Given the description of an element on the screen output the (x, y) to click on. 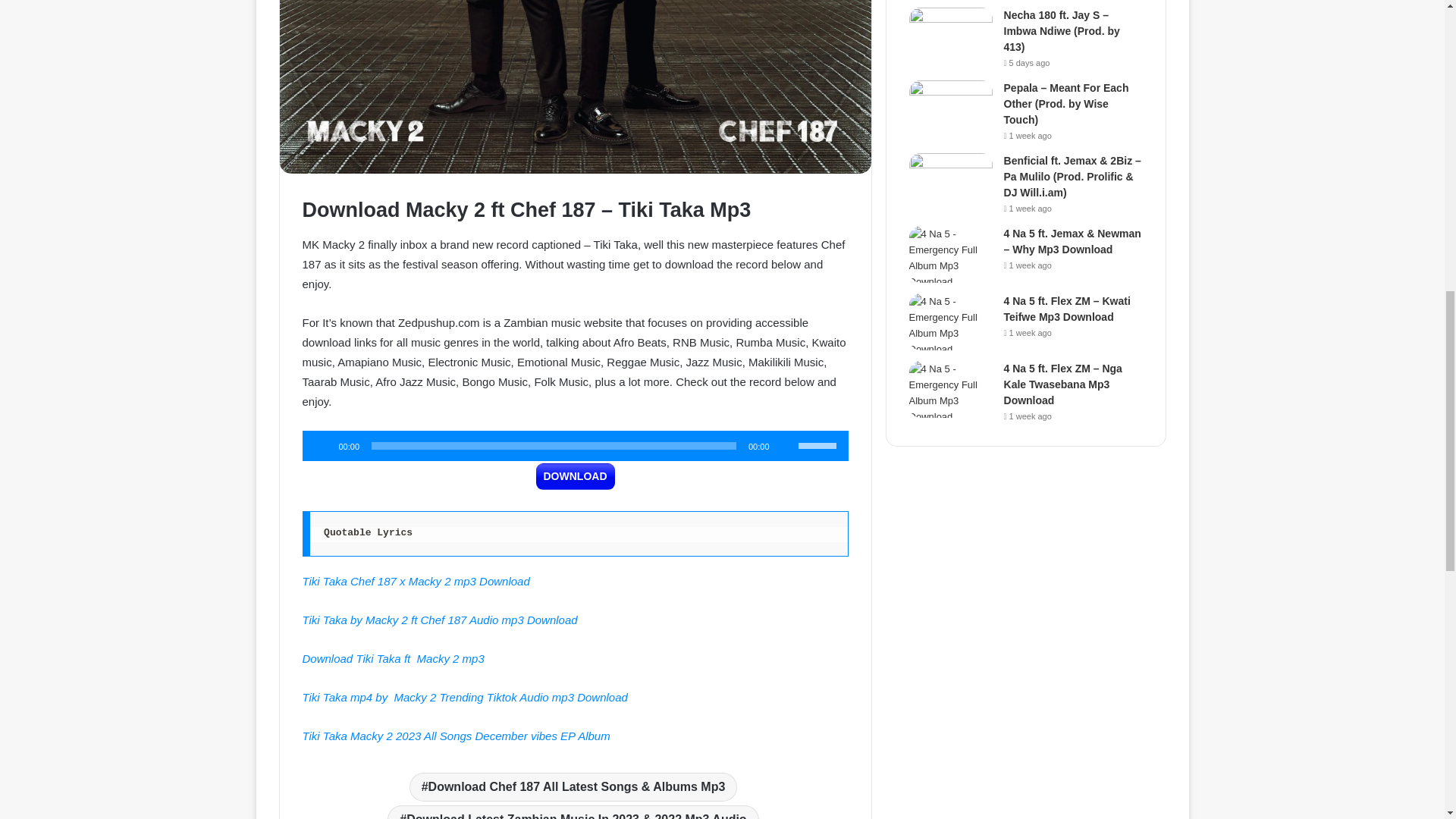
Tiki Taka by Macky 2 ft Chef 187 Audio mp3 Download (438, 619)
Tiki Taka mp4 by  Macky 2 Trending Tiktok Audio mp3 Download (464, 697)
Play (321, 445)
DOWNLOAD (574, 476)
Tiki Taka Chef 187 x Macky 2 mp3 Download (415, 581)
Mute (785, 445)
Download Tiki Taka ft  Macky 2 mp3 (392, 658)
Tiki Taka Macky 2 2023 All Songs December vibes EP Album  (456, 735)
